Given the description of an element on the screen output the (x, y) to click on. 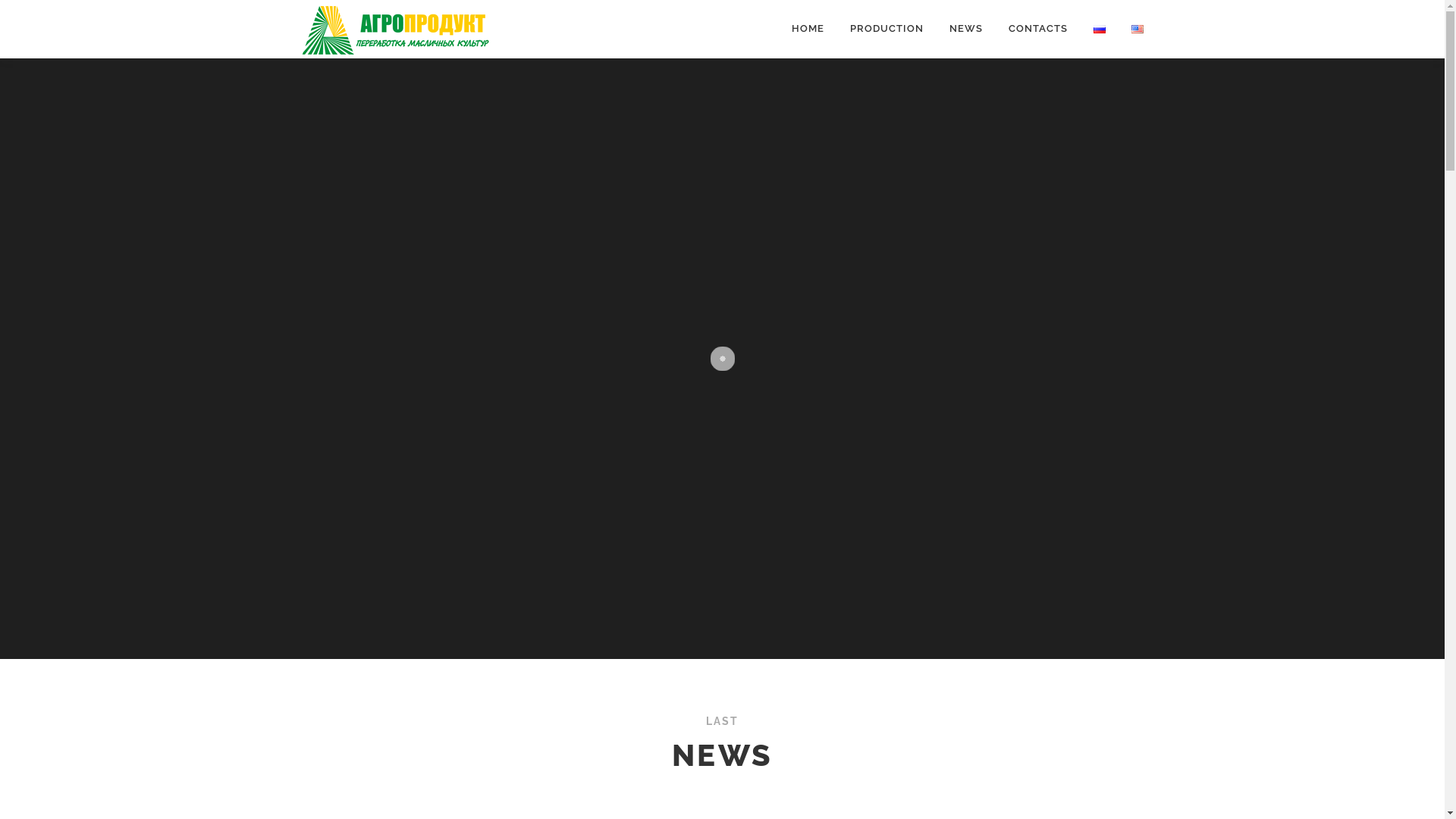
CONTACTS Element type: text (1036, 28)
HOME Element type: text (807, 28)
English Element type: hover (1137, 29)
PRODUCTION Element type: text (886, 28)
NEWS Element type: text (964, 28)
Skip to content Element type: text (37, 9)
